Given the description of an element on the screen output the (x, y) to click on. 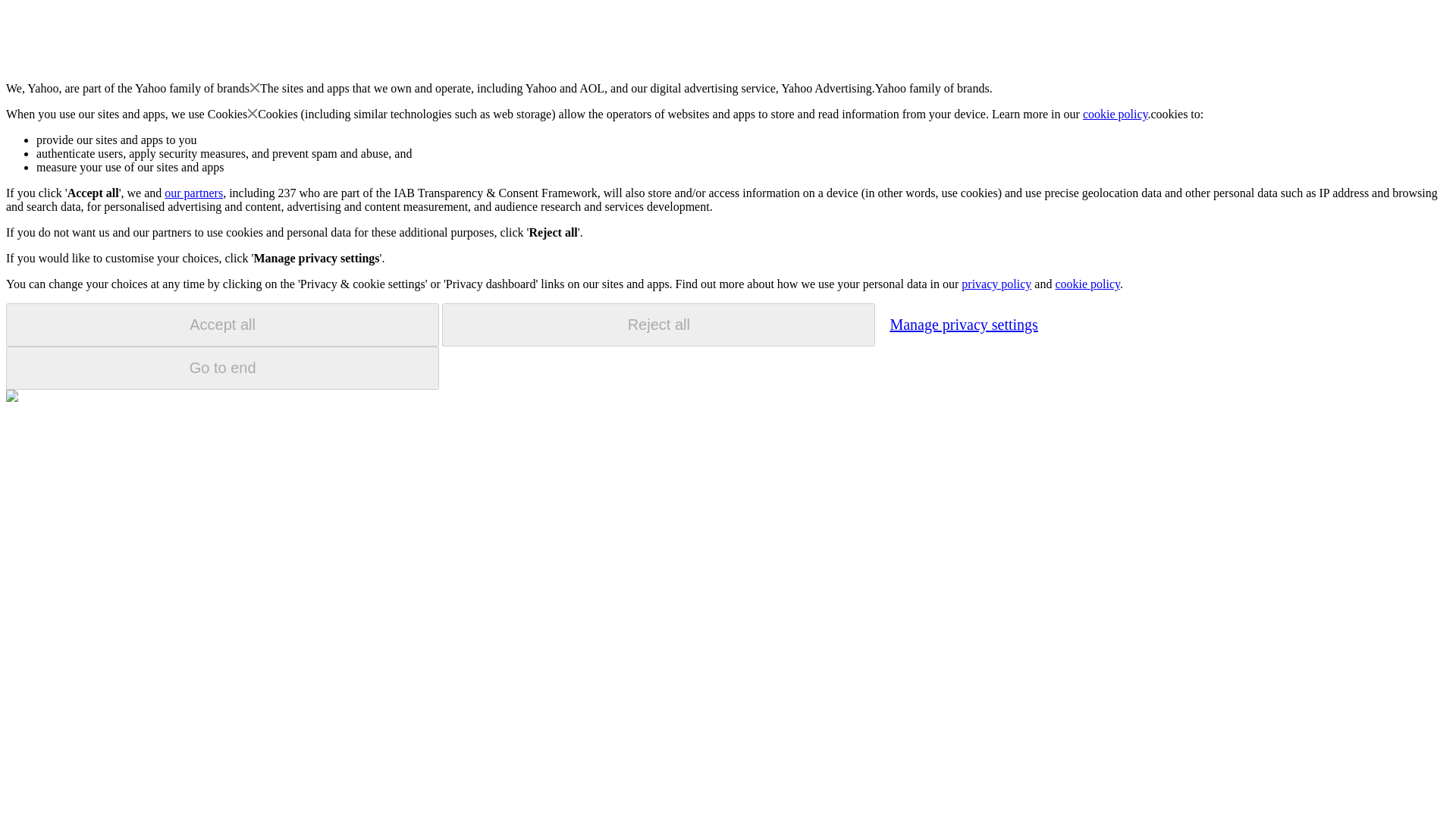
cookie policy (1086, 283)
privacy policy (995, 283)
cookie policy (1115, 113)
Go to end (222, 367)
Reject all (658, 324)
Accept all (222, 324)
Manage privacy settings (963, 323)
our partners (193, 192)
